Given the description of an element on the screen output the (x, y) to click on. 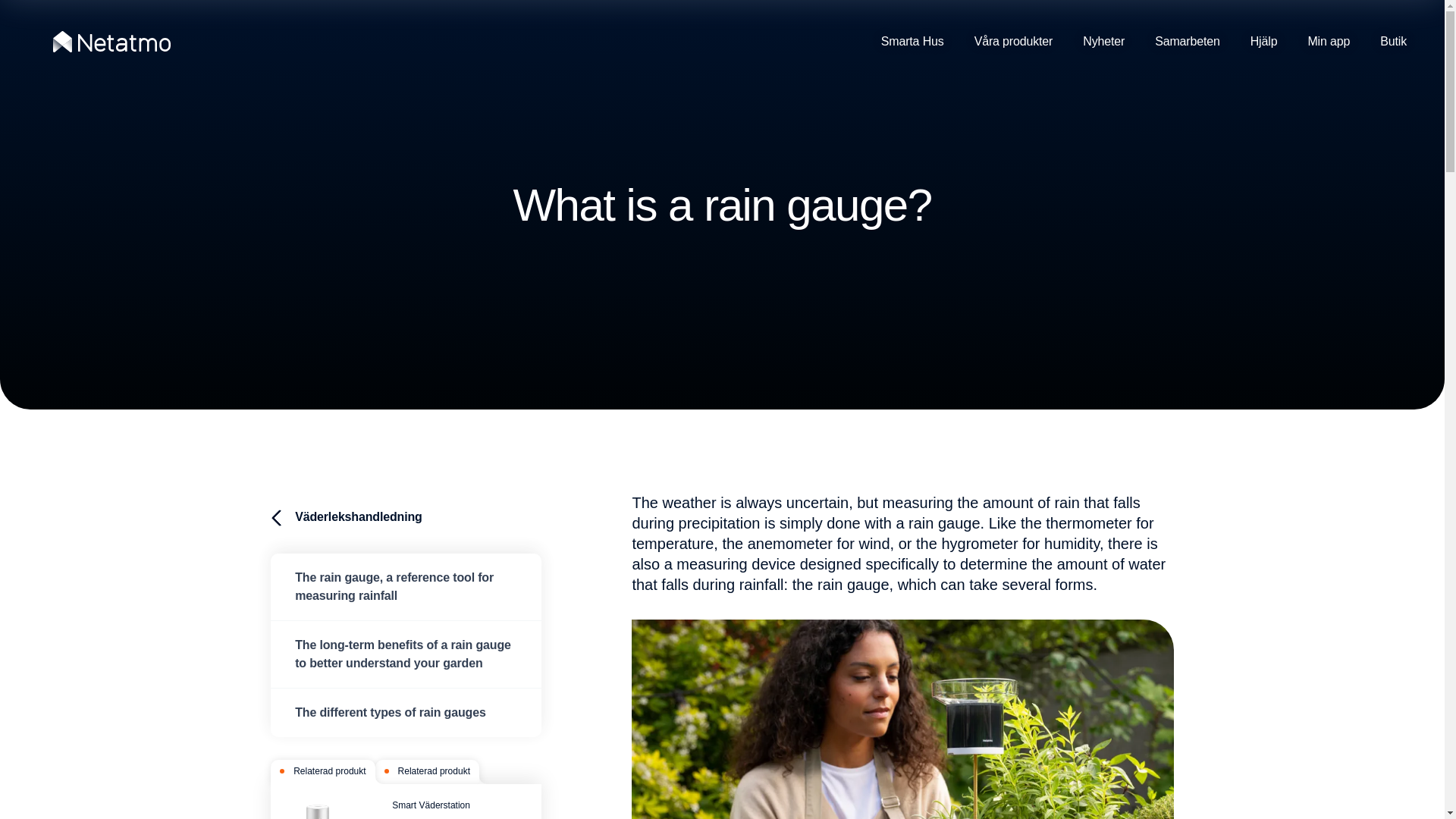
Samarbeten (1187, 41)
Smarta Hus (919, 41)
